Given the description of an element on the screen output the (x, y) to click on. 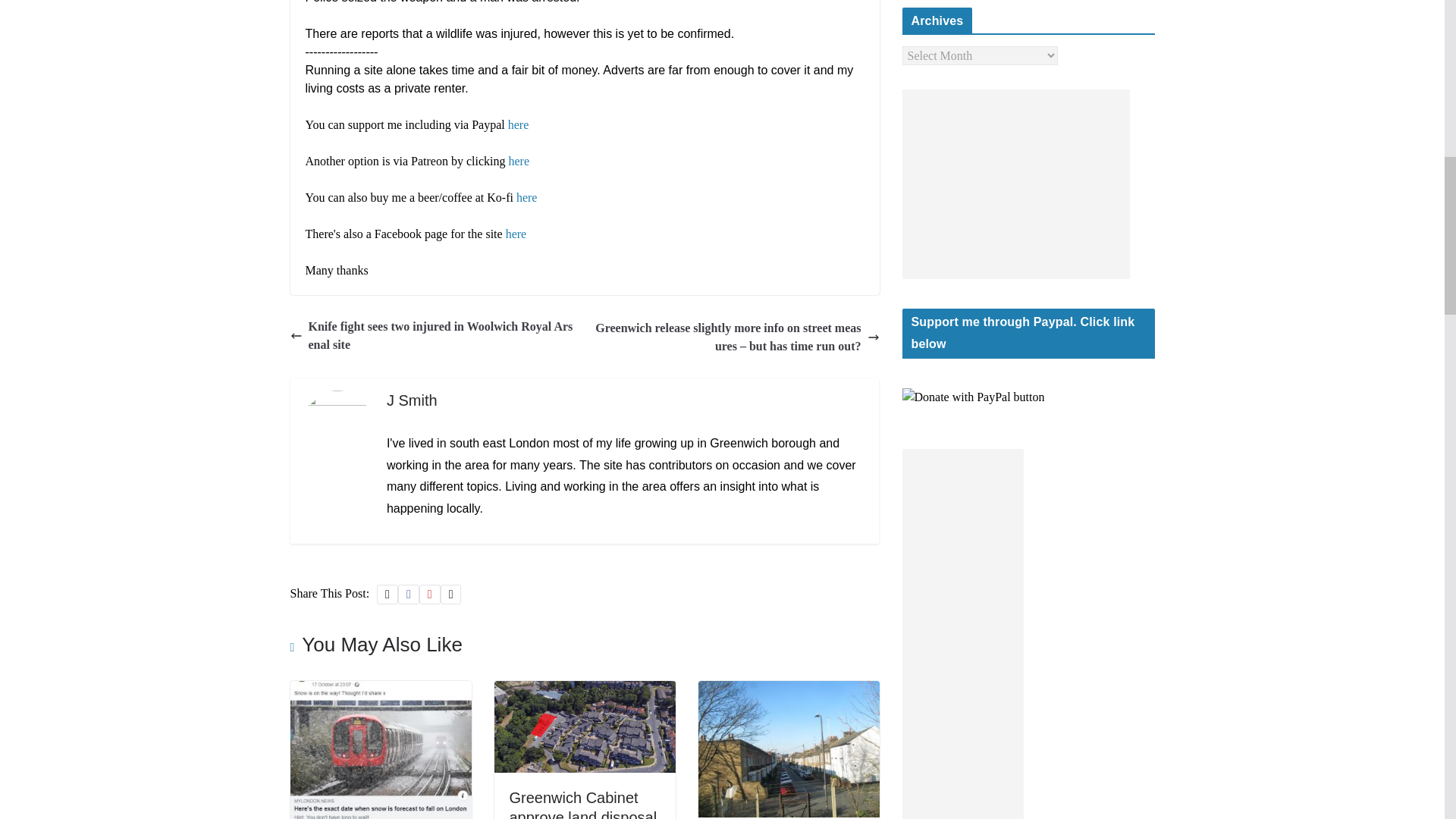
here (518, 124)
here (518, 160)
Knife fight sees two injured in Woolwich Royal Arsenal site (432, 335)
here (516, 233)
here (526, 196)
